Given the description of an element on the screen output the (x, y) to click on. 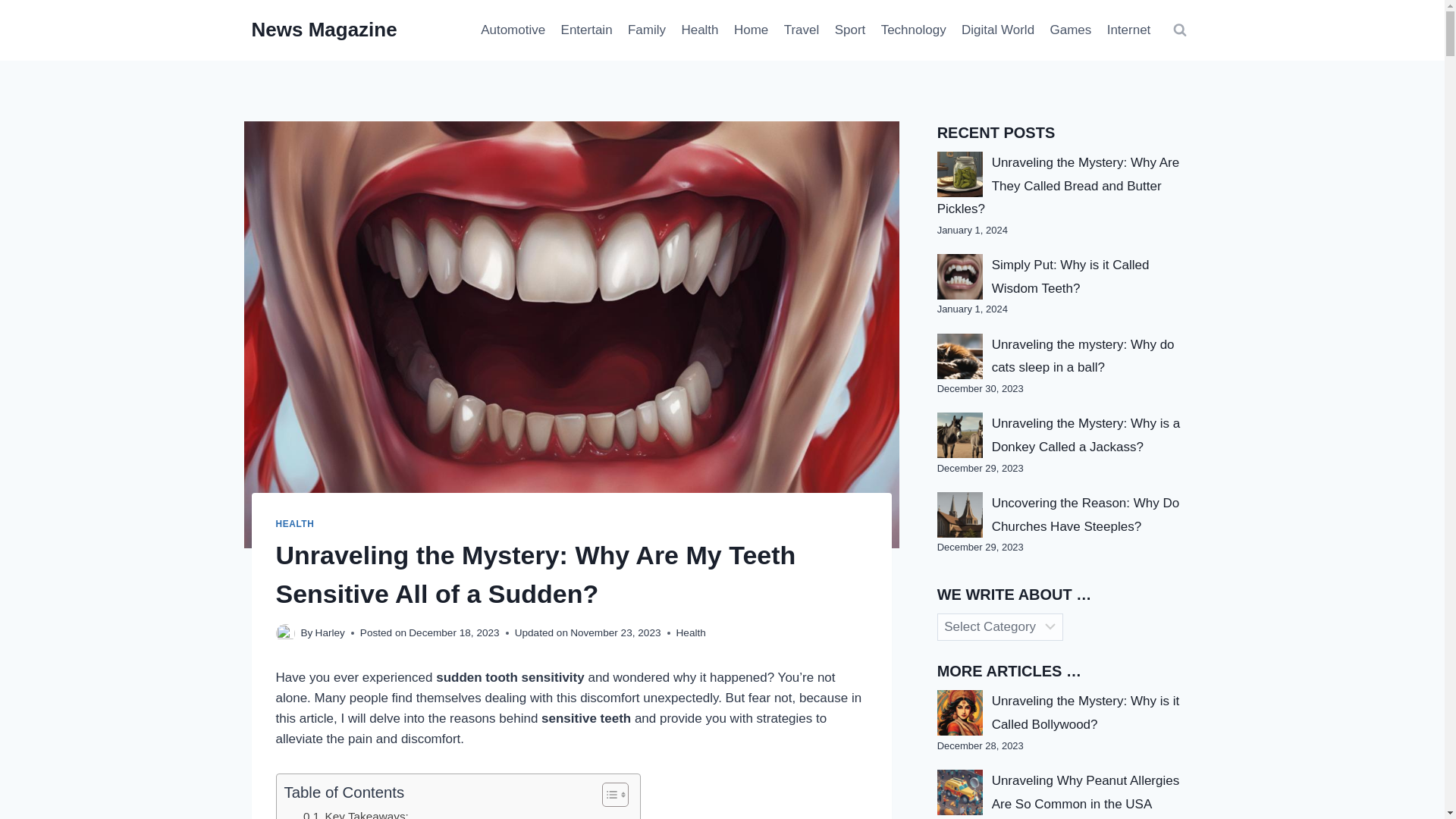
Health (699, 30)
Health (691, 632)
Sport (849, 30)
Internet (1128, 30)
Entertain (586, 30)
Travel (801, 30)
Games (1070, 30)
Key Takeaways: (355, 813)
Key Takeaways: (355, 813)
